Given the description of an element on the screen output the (x, y) to click on. 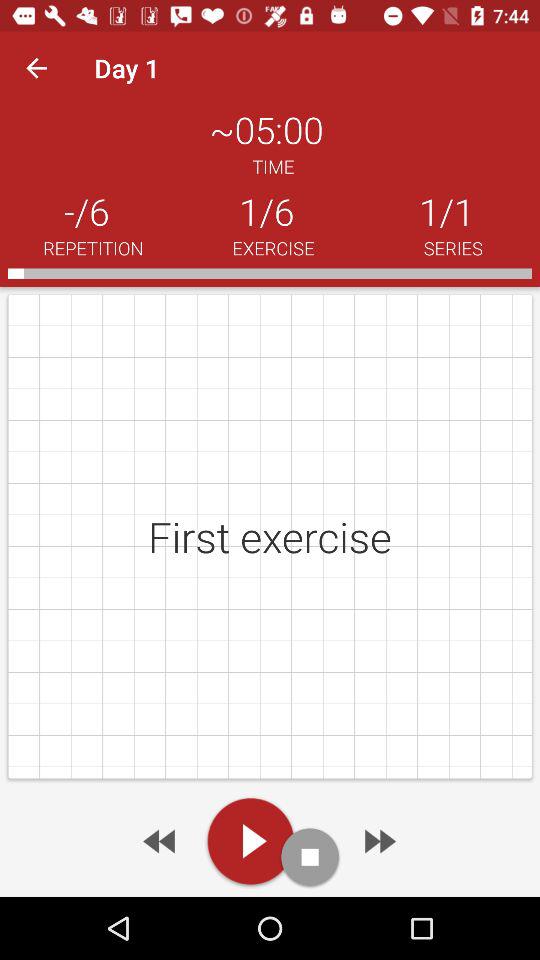
play button (250, 841)
